Given the description of an element on the screen output the (x, y) to click on. 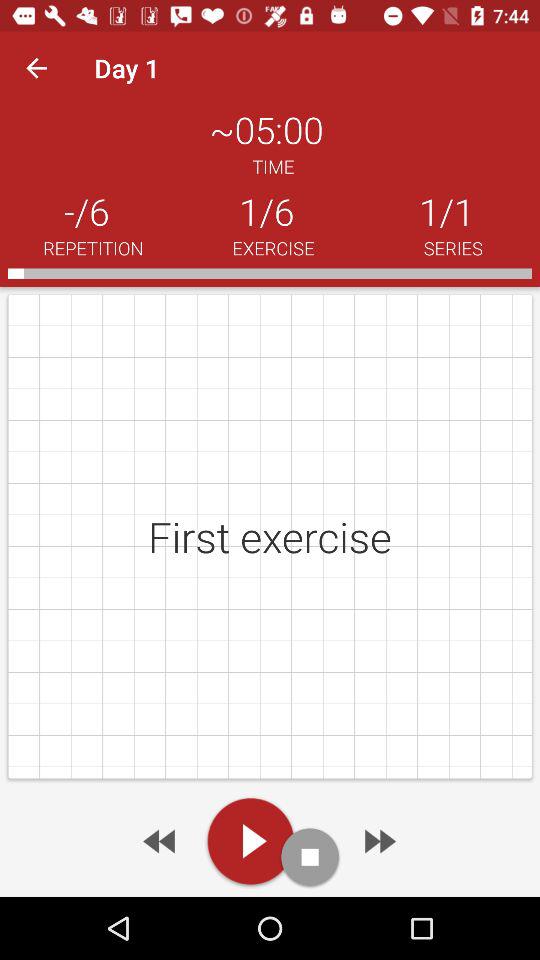
play button (250, 841)
